Given the description of an element on the screen output the (x, y) to click on. 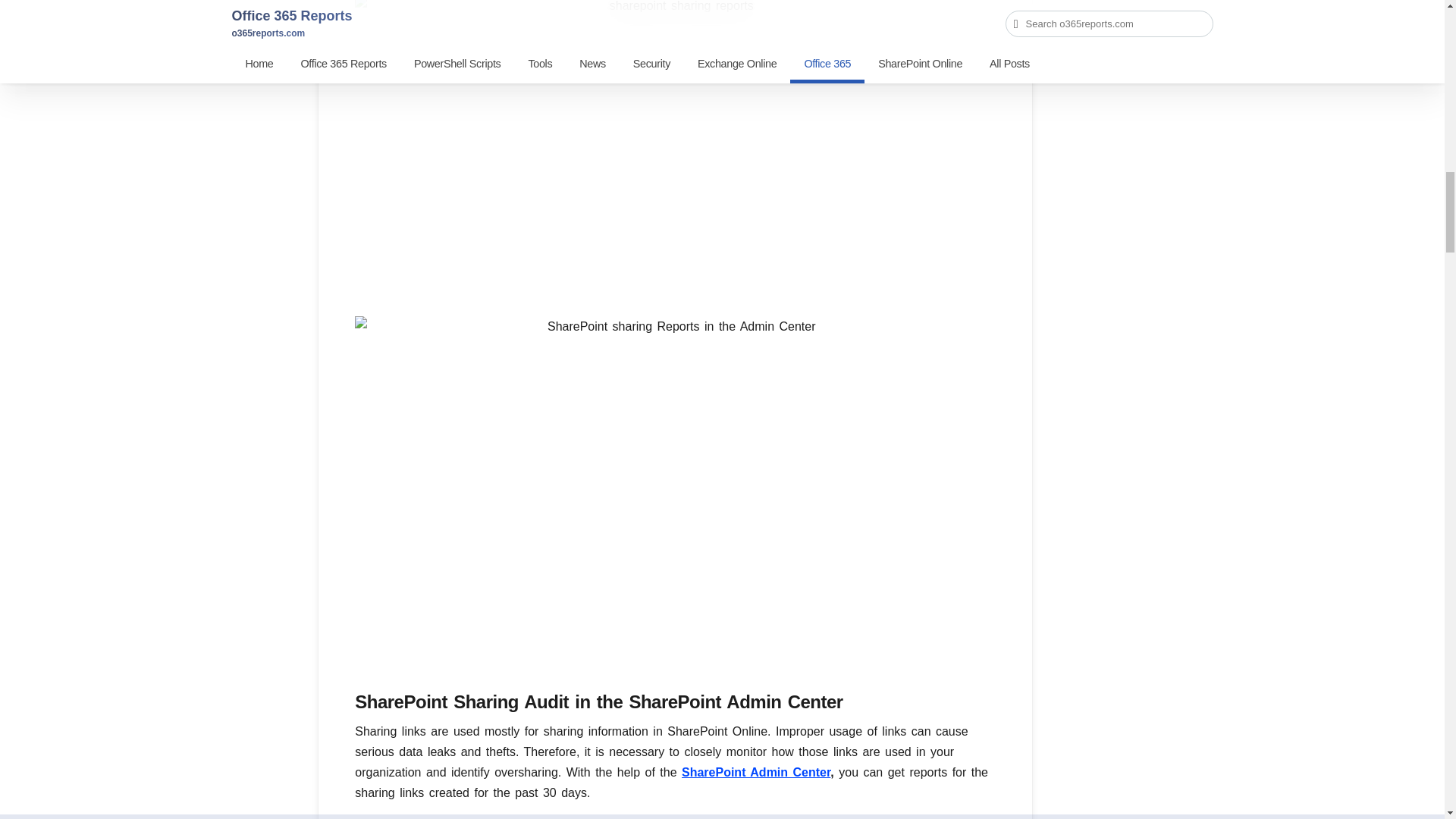
SharePoint Admin Center (755, 771)
